Given the description of an element on the screen output the (x, y) to click on. 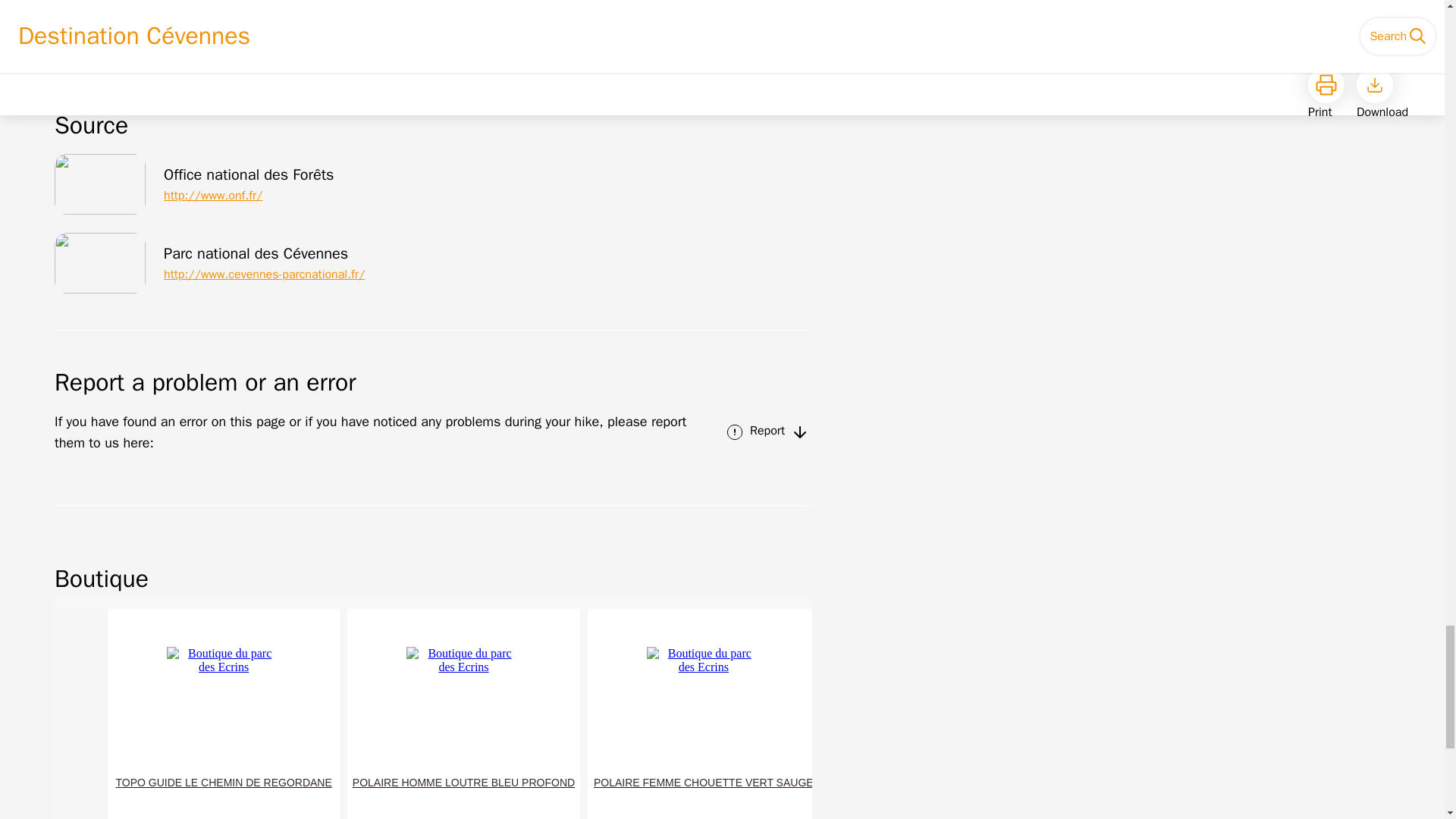
More information (433, 36)
Report (765, 432)
